Given the description of an element on the screen output the (x, y) to click on. 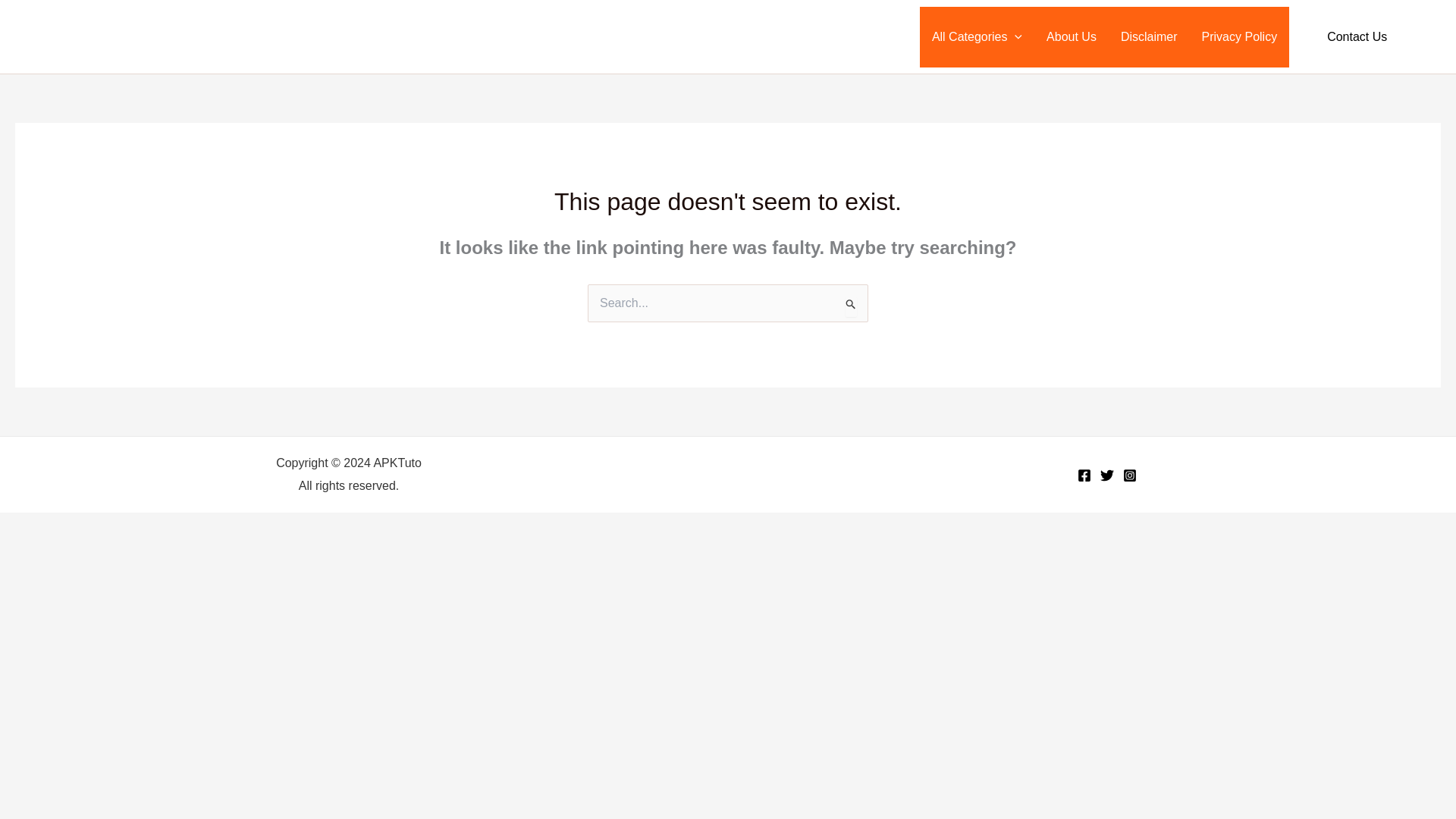
Search (850, 305)
All Categories (976, 35)
Search (1433, 36)
Privacy Policy (1239, 35)
Disclaimer (1148, 35)
Search (850, 305)
Search (850, 305)
About Us (1070, 35)
Contact Us (1356, 36)
